Given the description of an element on the screen output the (x, y) to click on. 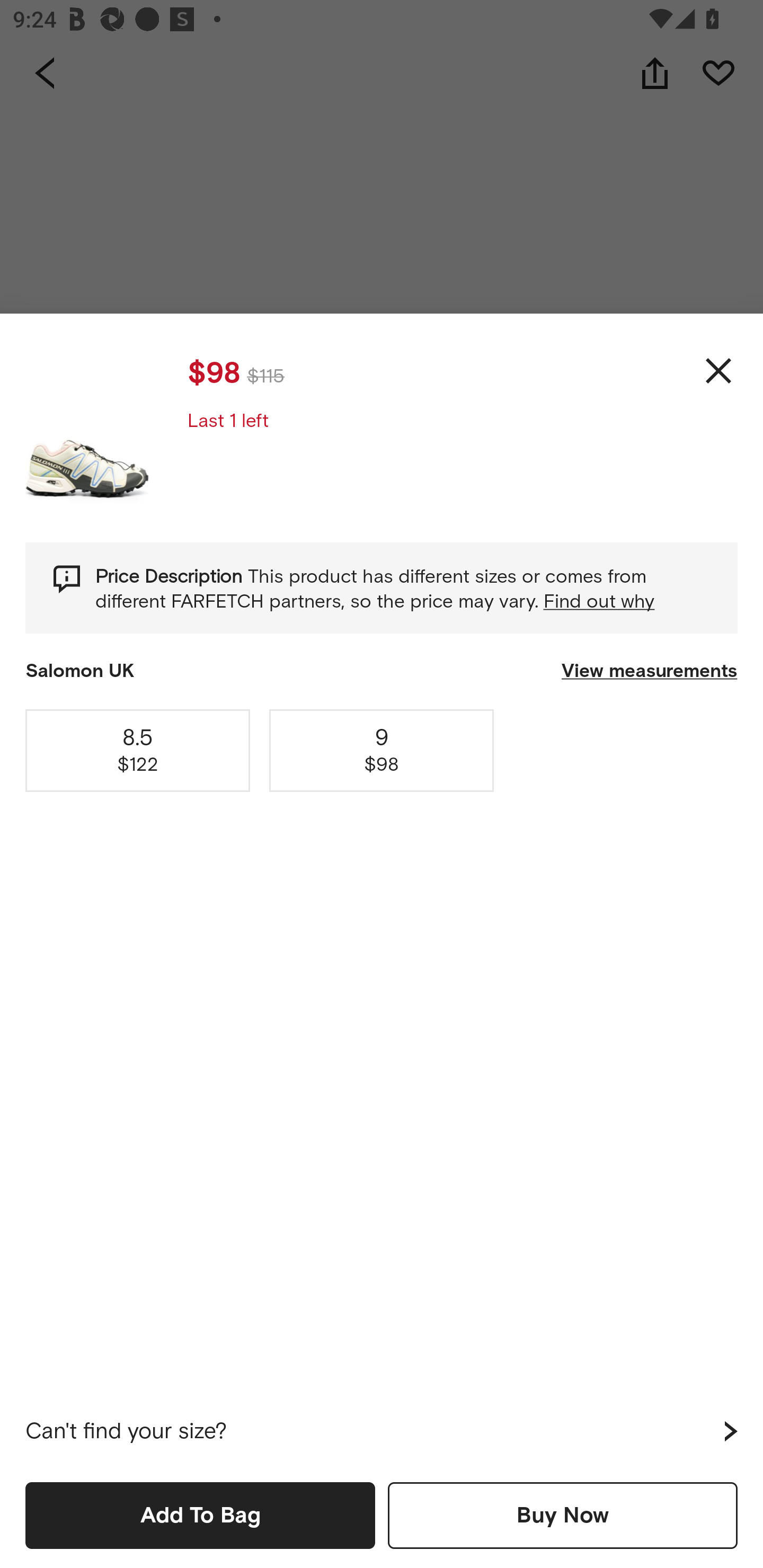
8.5 $122 (137, 749)
9 $98 (381, 749)
Can't find your size? (381, 1431)
Add To Bag (200, 1515)
Buy Now (562, 1515)
